Given the description of an element on the screen output the (x, y) to click on. 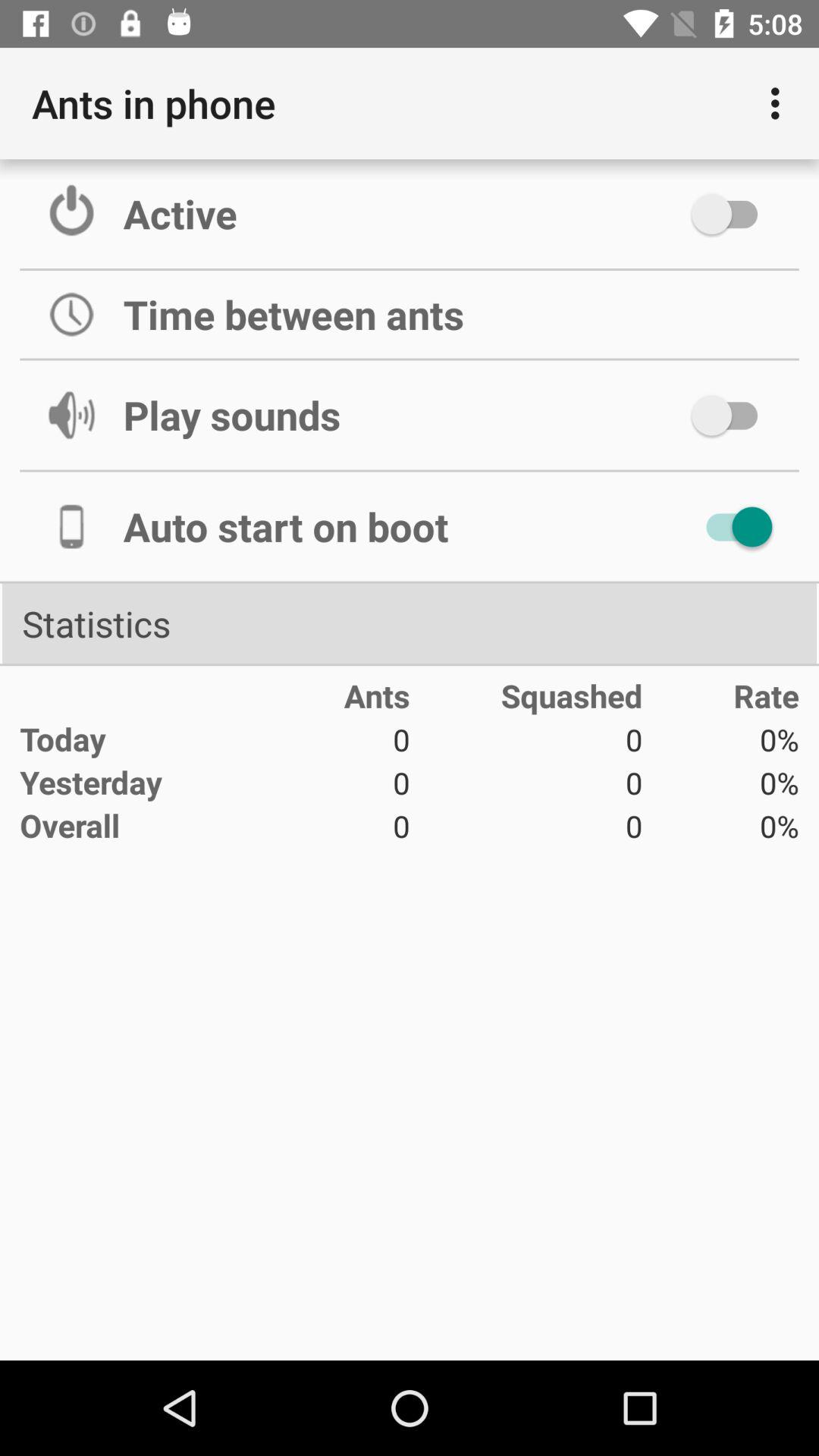
launch item to the right of ants in phone (779, 103)
